Given the description of an element on the screen output the (x, y) to click on. 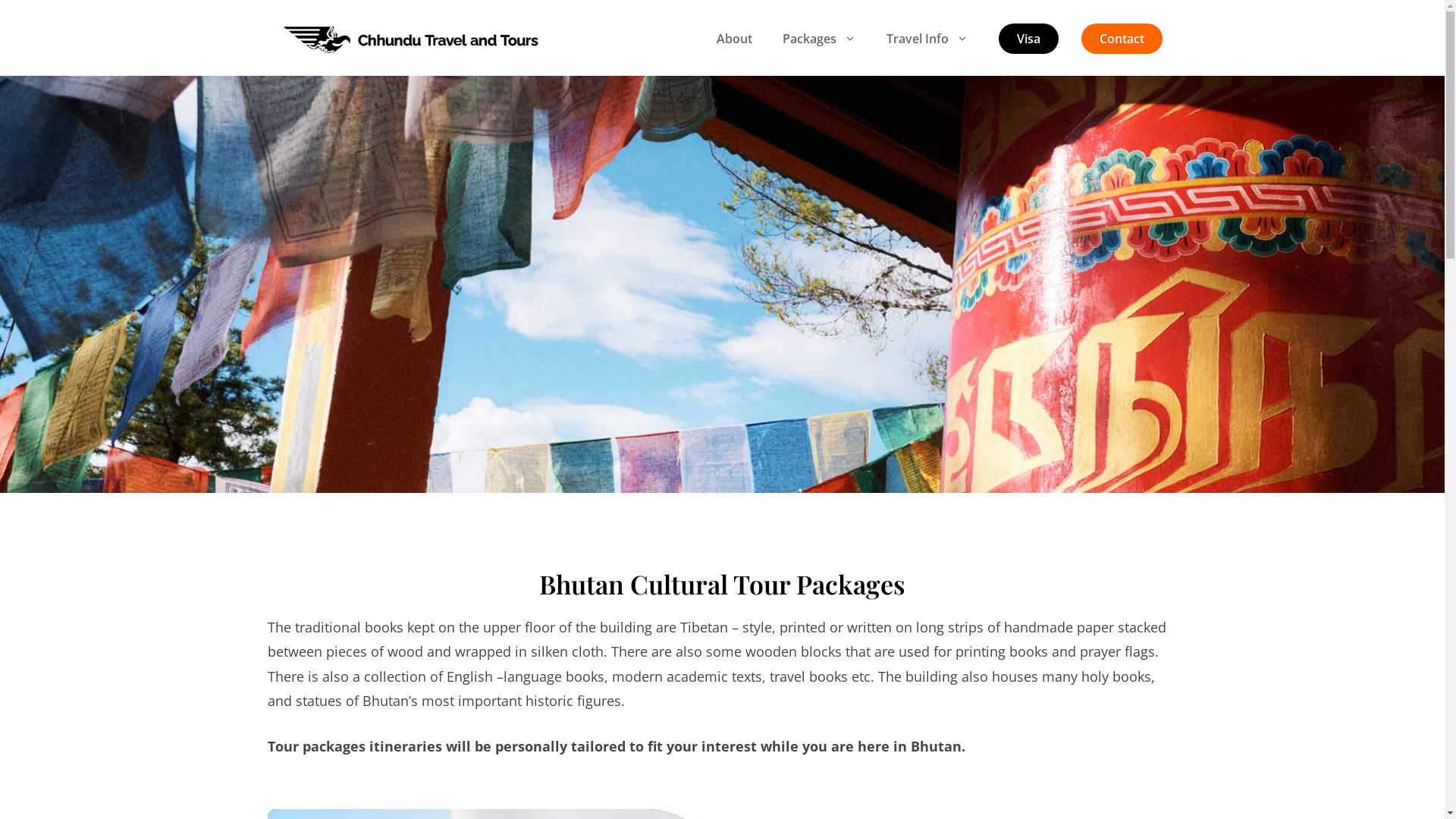
Contact Element type: text (1121, 38)
Visa Element type: text (1027, 38)
About Element type: text (733, 38)
Chhundu Travel & Tours Element type: hover (410, 37)
Packages Element type: text (819, 38)
Bhutan-Cultural-Tour-Packages Element type: hover (722, 283)
Travel Info Element type: text (926, 38)
Chhundu Travel & Tours Element type: hover (410, 38)
